Given the description of an element on the screen output the (x, y) to click on. 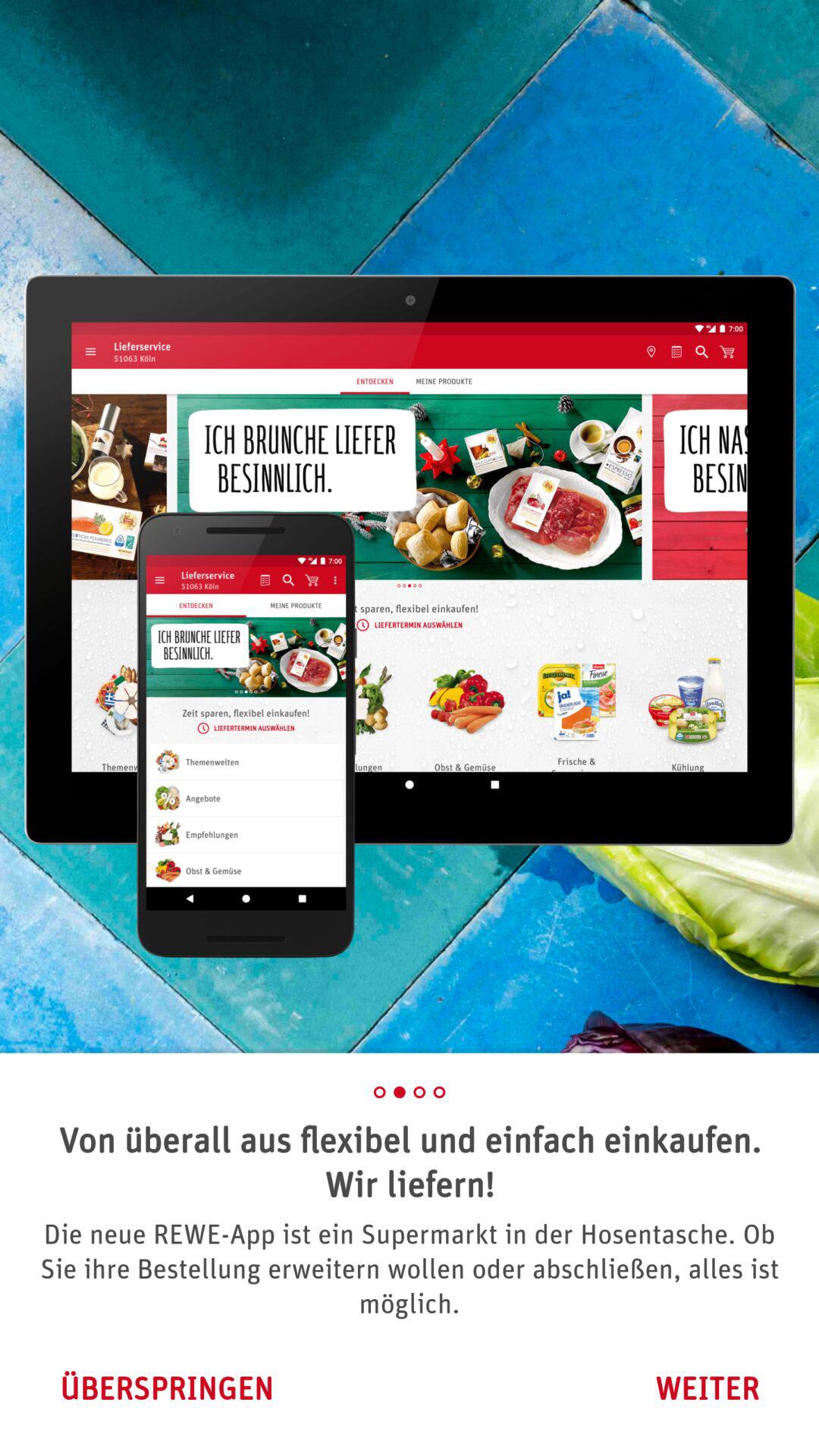
tap the icon below durch ortung oder item (707, 1388)
